Given the description of an element on the screen output the (x, y) to click on. 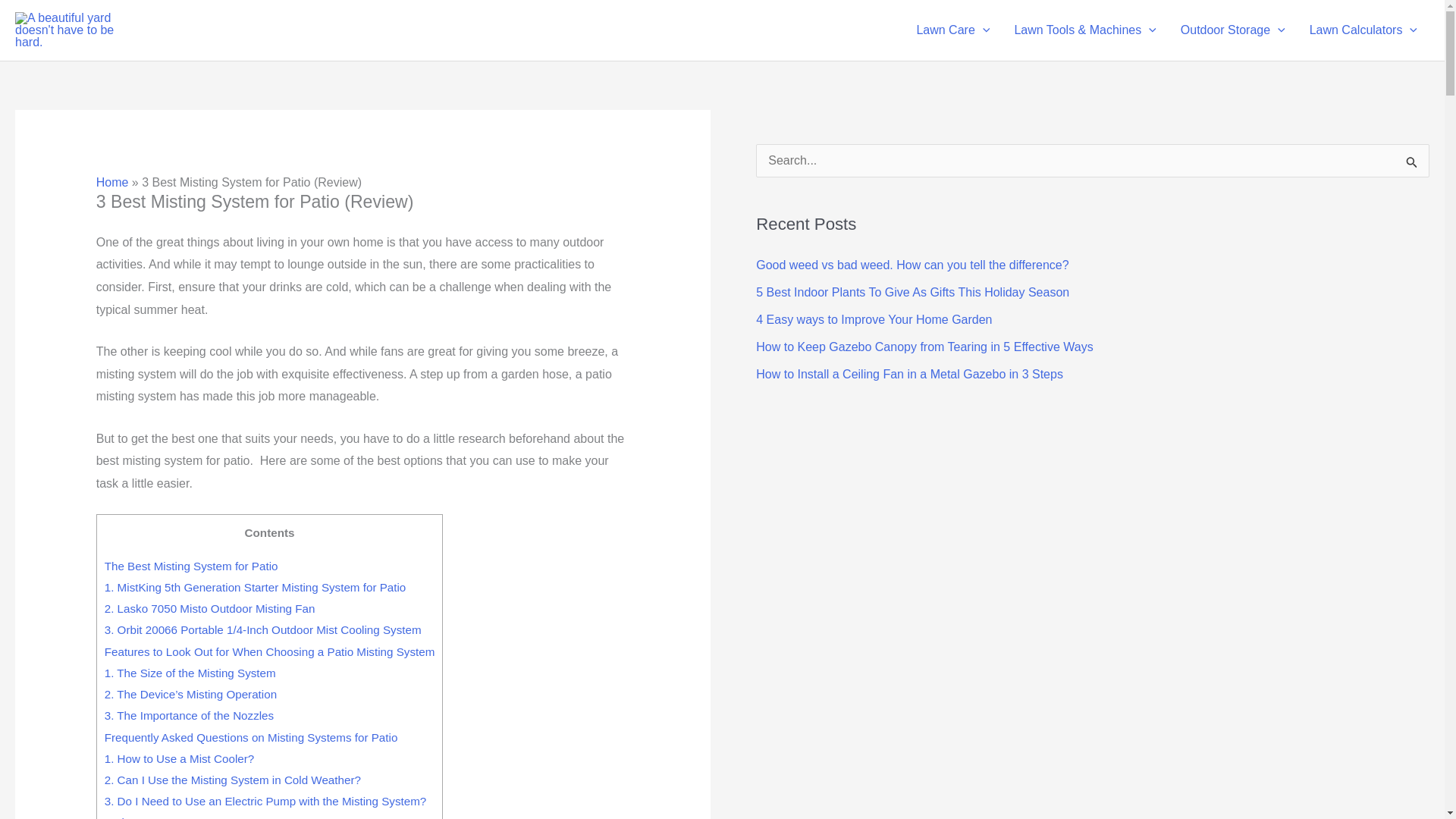
Outdoor Storage (1233, 30)
Lawn Calculators (1363, 30)
Lawn Care (952, 30)
